Given the description of an element on the screen output the (x, y) to click on. 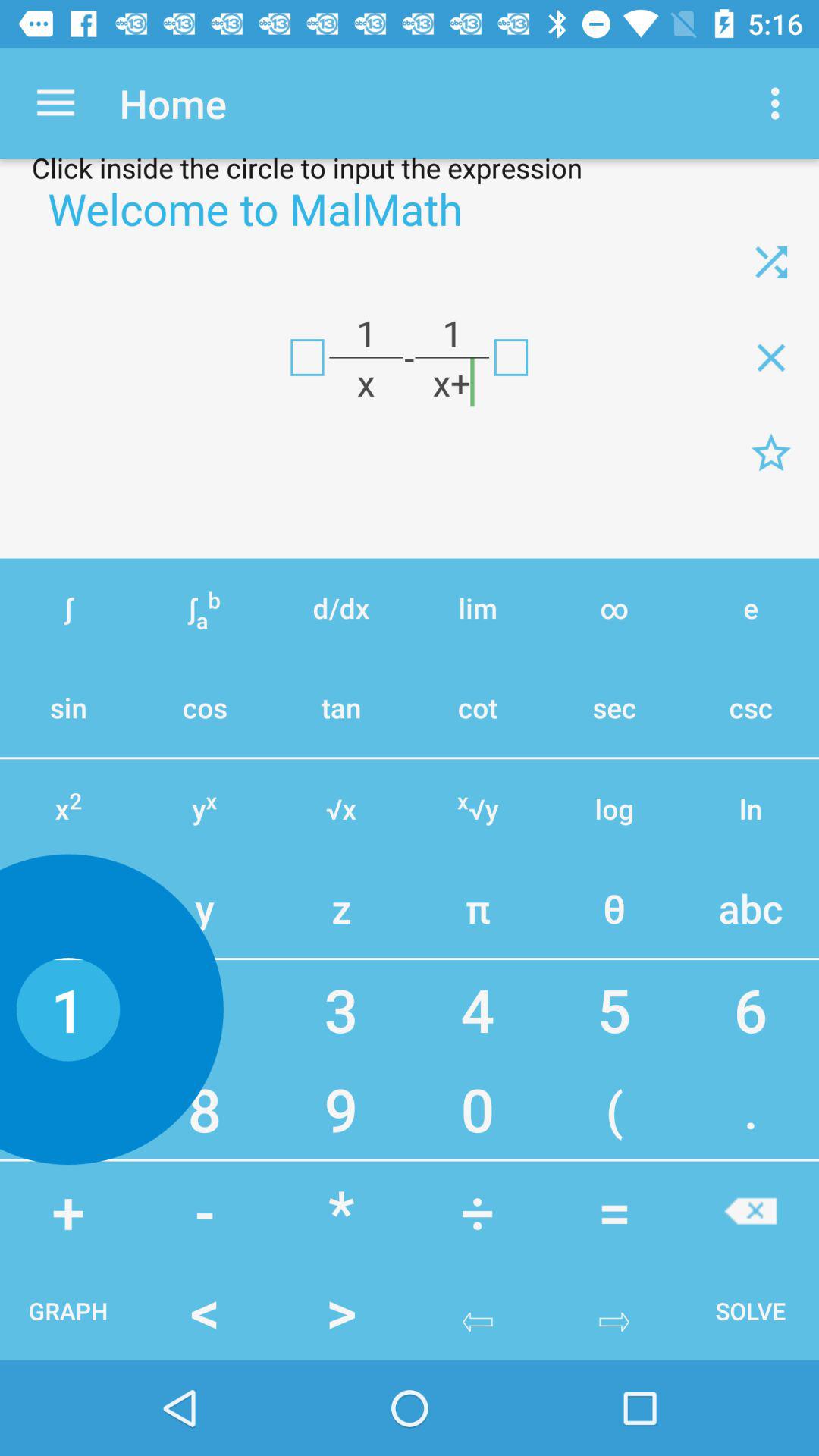
close button (750, 1210)
